Given the description of an element on the screen output the (x, y) to click on. 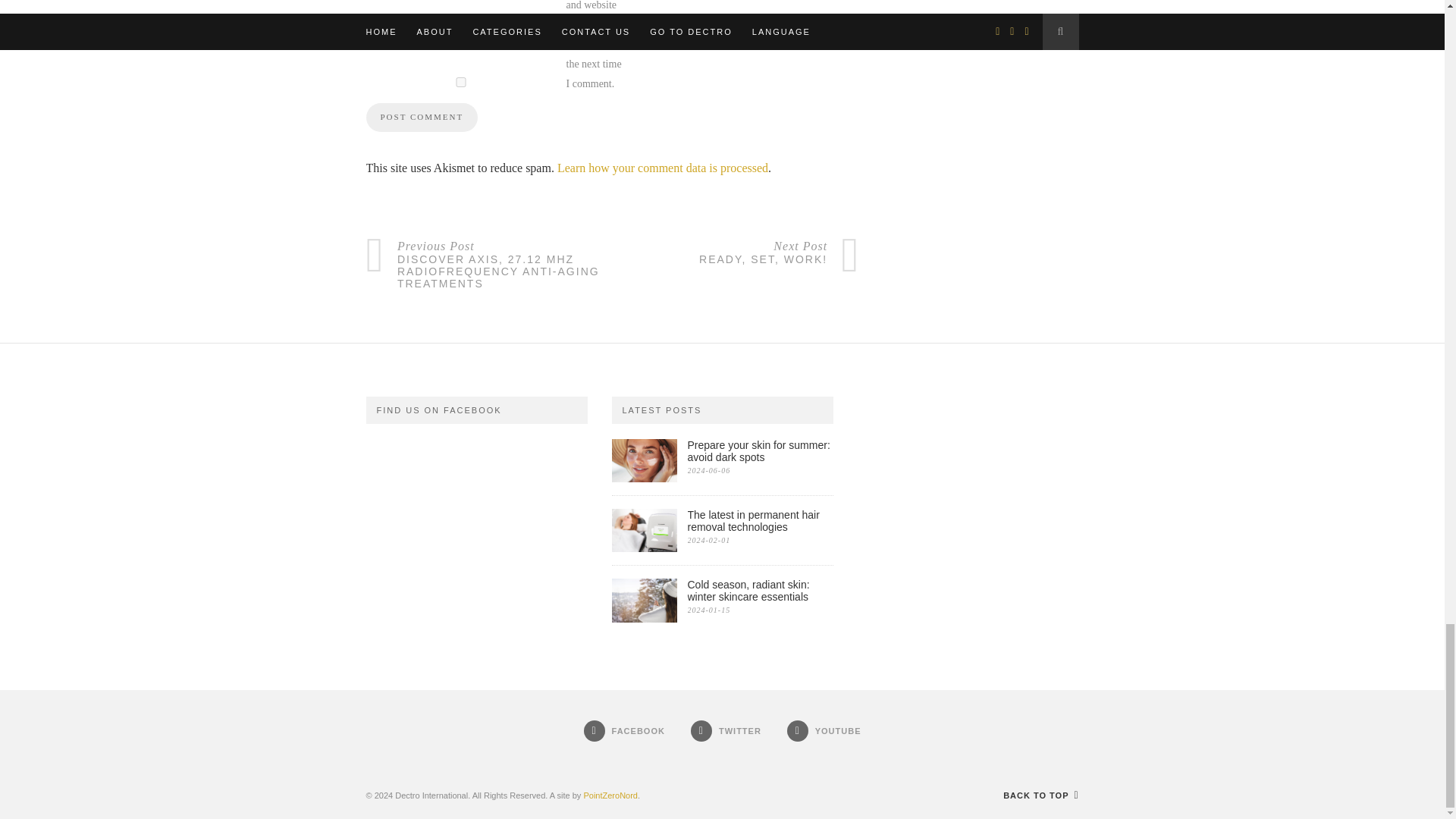
yes (459, 81)
Post Comment (421, 116)
